Given the description of an element on the screen output the (x, y) to click on. 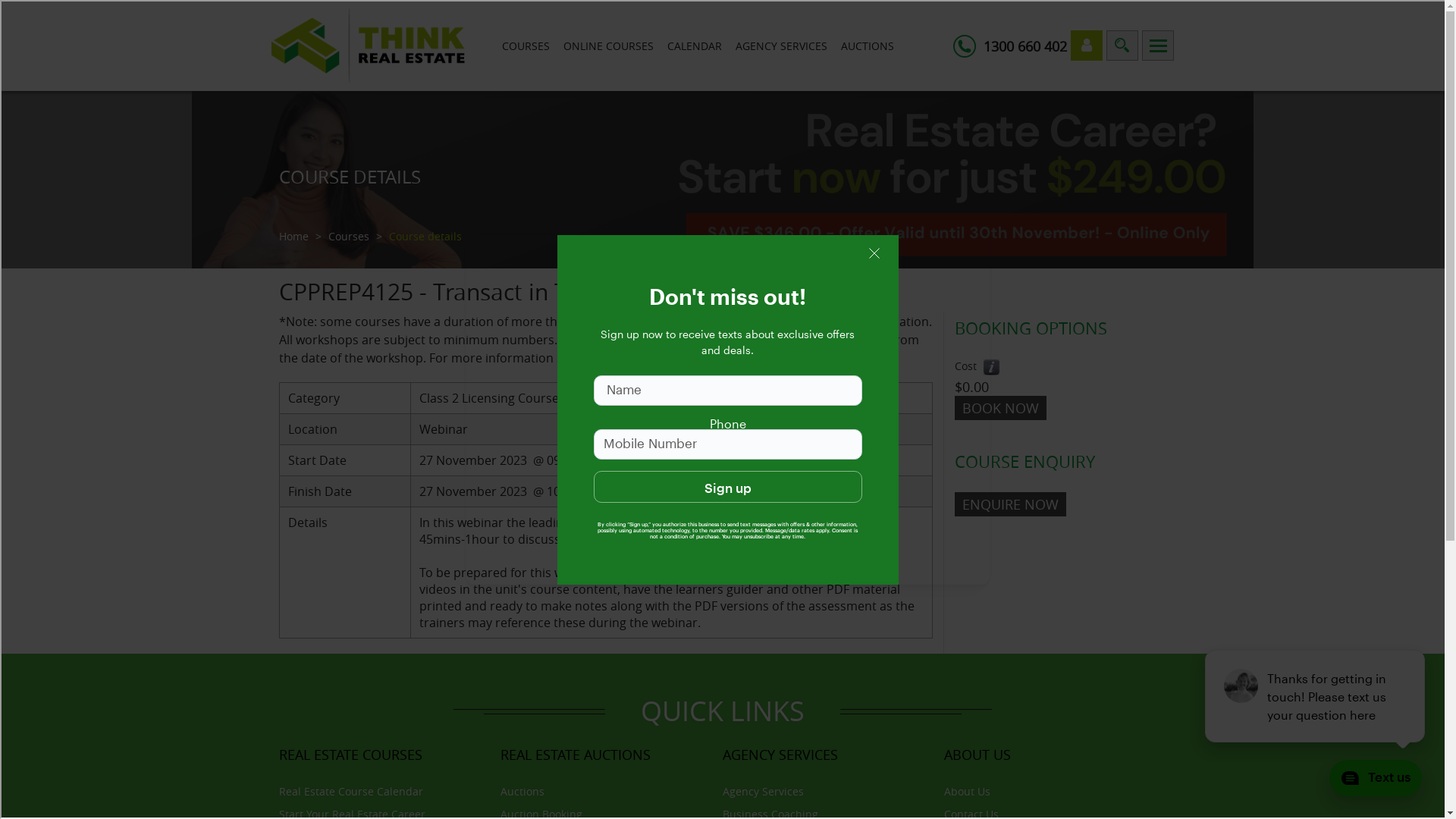
Think Real Estate Courses Element type: hover (367, 45)
Real Estate Course Calendar Element type: text (351, 791)
  Element type: text (1121, 45)
Think Real Estate Courses Element type: hover (367, 44)
podium webchat widget prompt Element type: hover (1315, 696)
Call 1300 660 402 for more information Element type: hover (991, 366)
AUCTIONS Element type: text (866, 45)
Think Real Estate Courses Element type: hover (721, 179)
 1300 660 402 Element type: text (1024, 46)
AGENCY SERVICES Element type: text (781, 45)
Auctions Element type: text (522, 791)
Agency Services Element type: text (762, 791)
Home Element type: text (293, 236)
Courses Element type: text (347, 236)
  Element type: text (1157, 45)
COURSES Element type: text (525, 45)
ONLINE COURSES Element type: text (607, 45)
Login Element type: hover (1086, 45)
CALENDAR Element type: text (694, 45)
BOOK NOW Element type: text (1000, 407)
ENQUIRE NOW Element type: text (1010, 504)
Search Element type: hover (1121, 45)
About Us Element type: text (967, 791)
Menu Element type: hover (1157, 45)
